Given the description of an element on the screen output the (x, y) to click on. 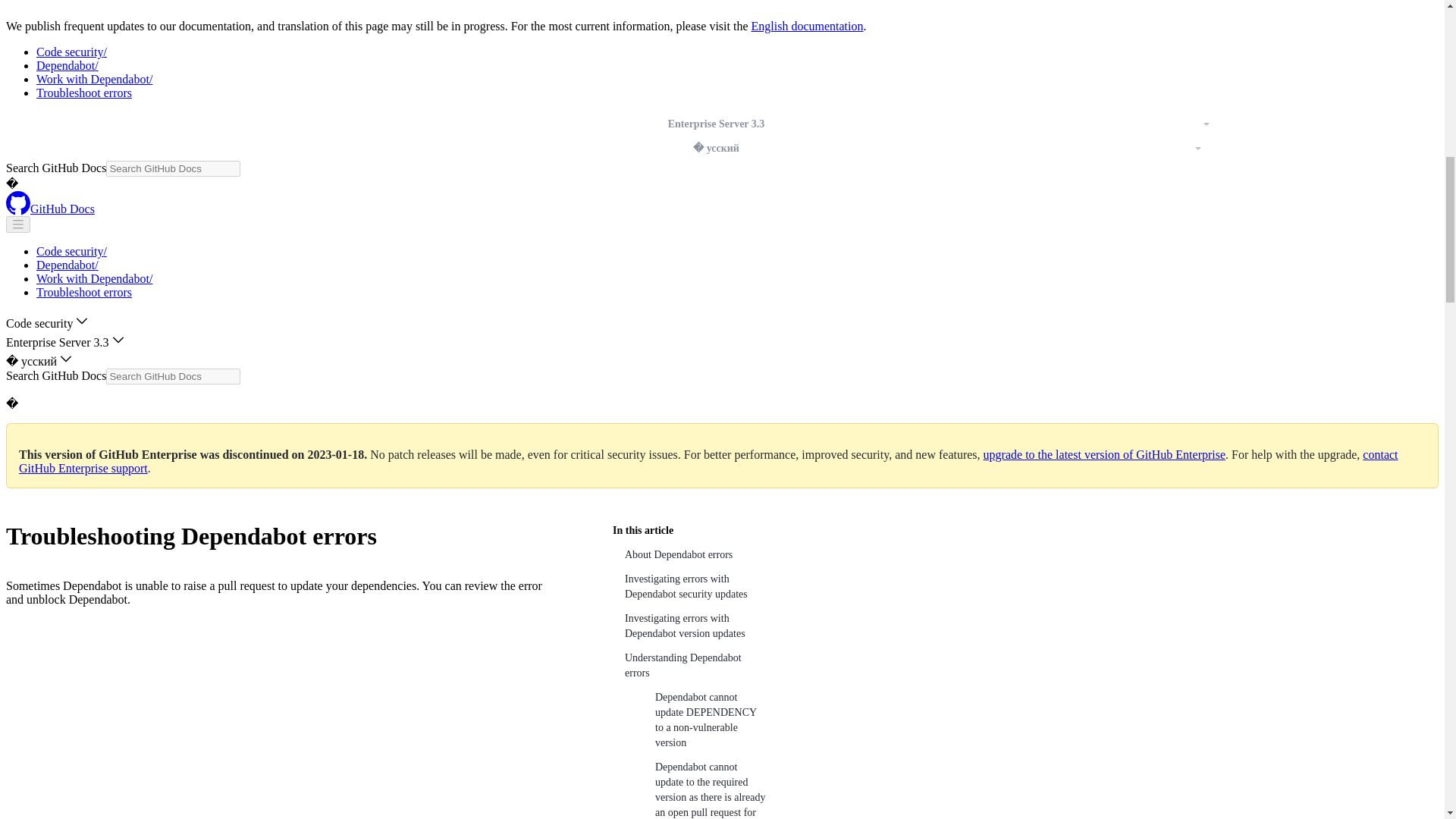
Code security (71, 250)
Troubleshoot errors (84, 291)
Code security (71, 51)
2023-01-18 (336, 454)
Dependabot (67, 264)
Work with Dependabot (94, 278)
Dependabot (67, 65)
Troubleshoot errors (84, 92)
Work with Dependabot (94, 78)
